Given the description of an element on the screen output the (x, y) to click on. 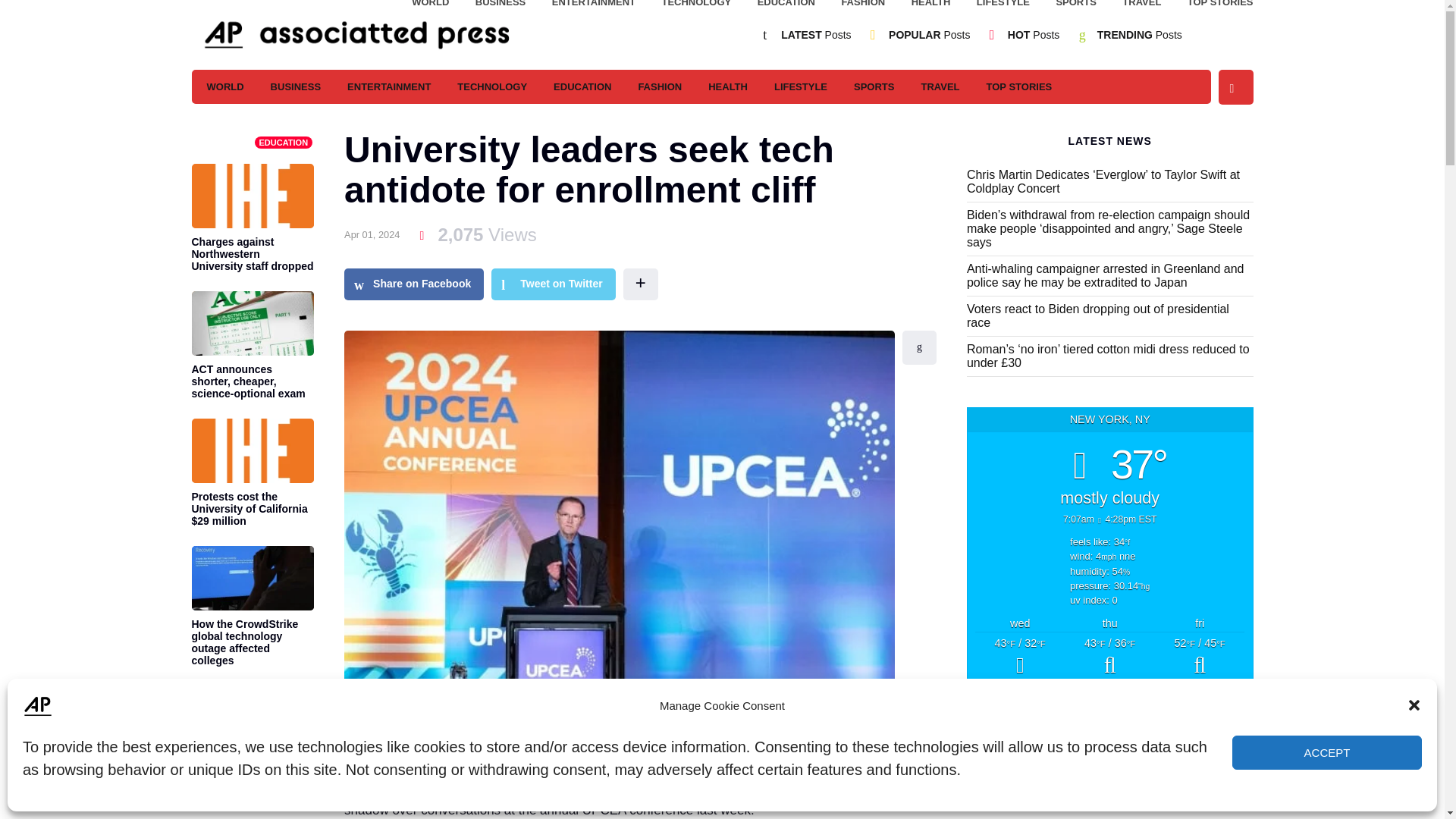
EDUCATION (786, 5)
WORLD (224, 86)
TECHNOLOGY (695, 5)
BUSINESS (295, 86)
TOP STORIES (1220, 5)
LATEST Posts (815, 35)
HOT Posts (1033, 35)
FASHION (863, 5)
Mostly Cloudy (1199, 657)
TRENDING Posts (1139, 35)
LIFESTYLE (1002, 5)
POPULAR Posts (928, 35)
HEALTH (930, 5)
TRAVEL (1141, 5)
ACCEPT (1326, 752)
